Given the description of an element on the screen output the (x, y) to click on. 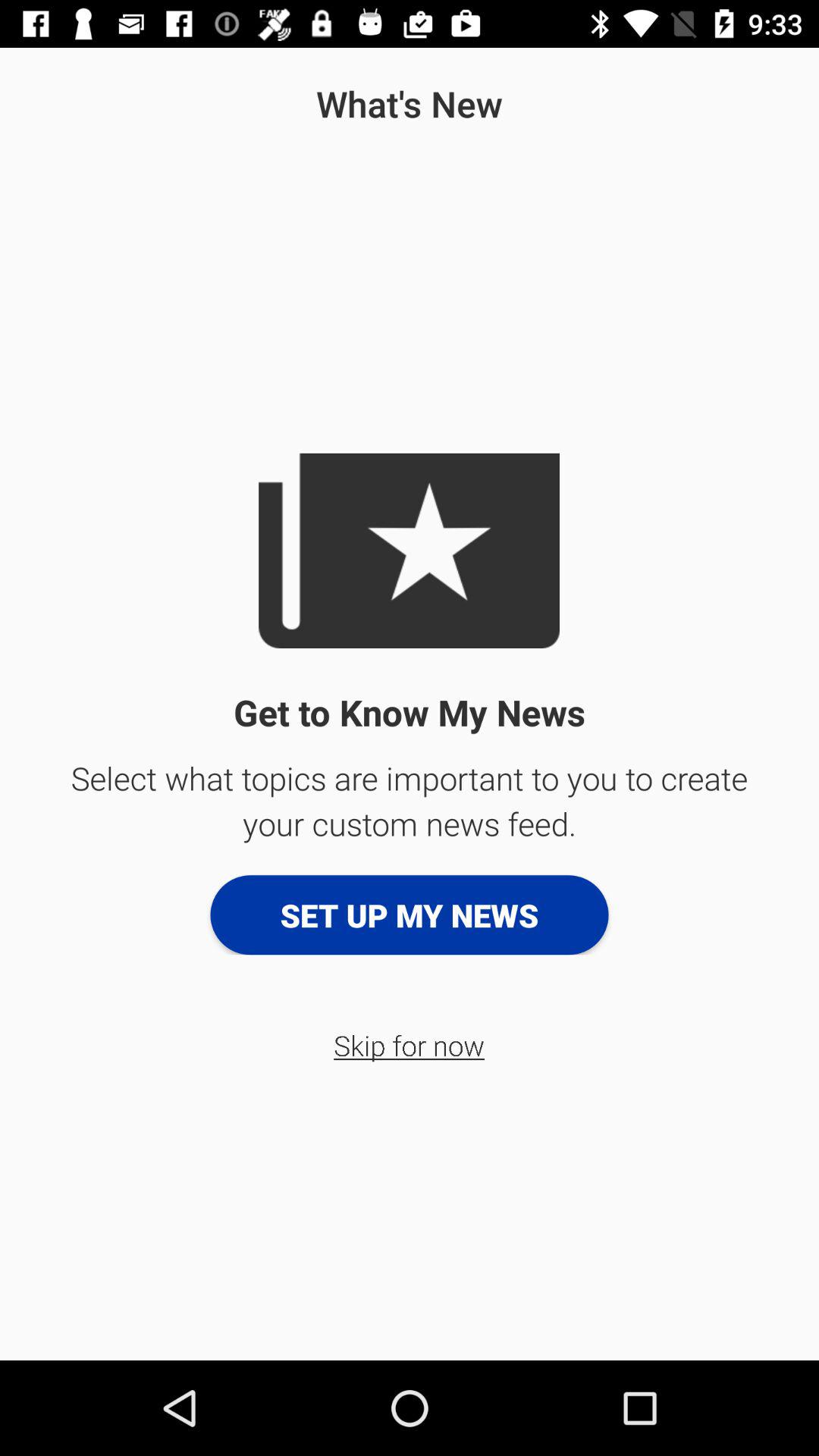
launch the icon below set up my icon (409, 1044)
